Given the description of an element on the screen output the (x, y) to click on. 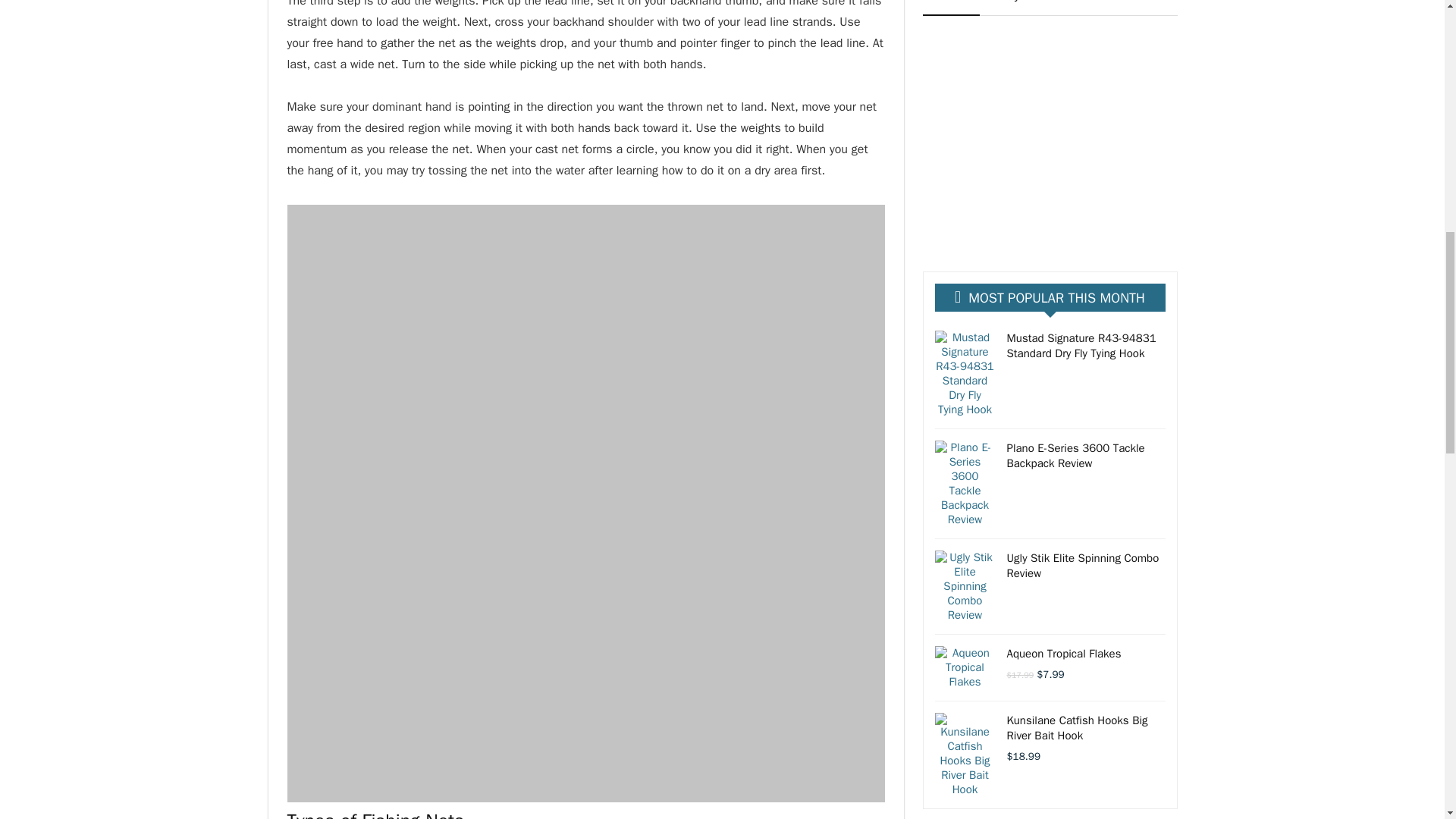
Mustad Signature R43-94831 Standard Dry Fly Tying Hook (1081, 345)
